Given the description of an element on the screen output the (x, y) to click on. 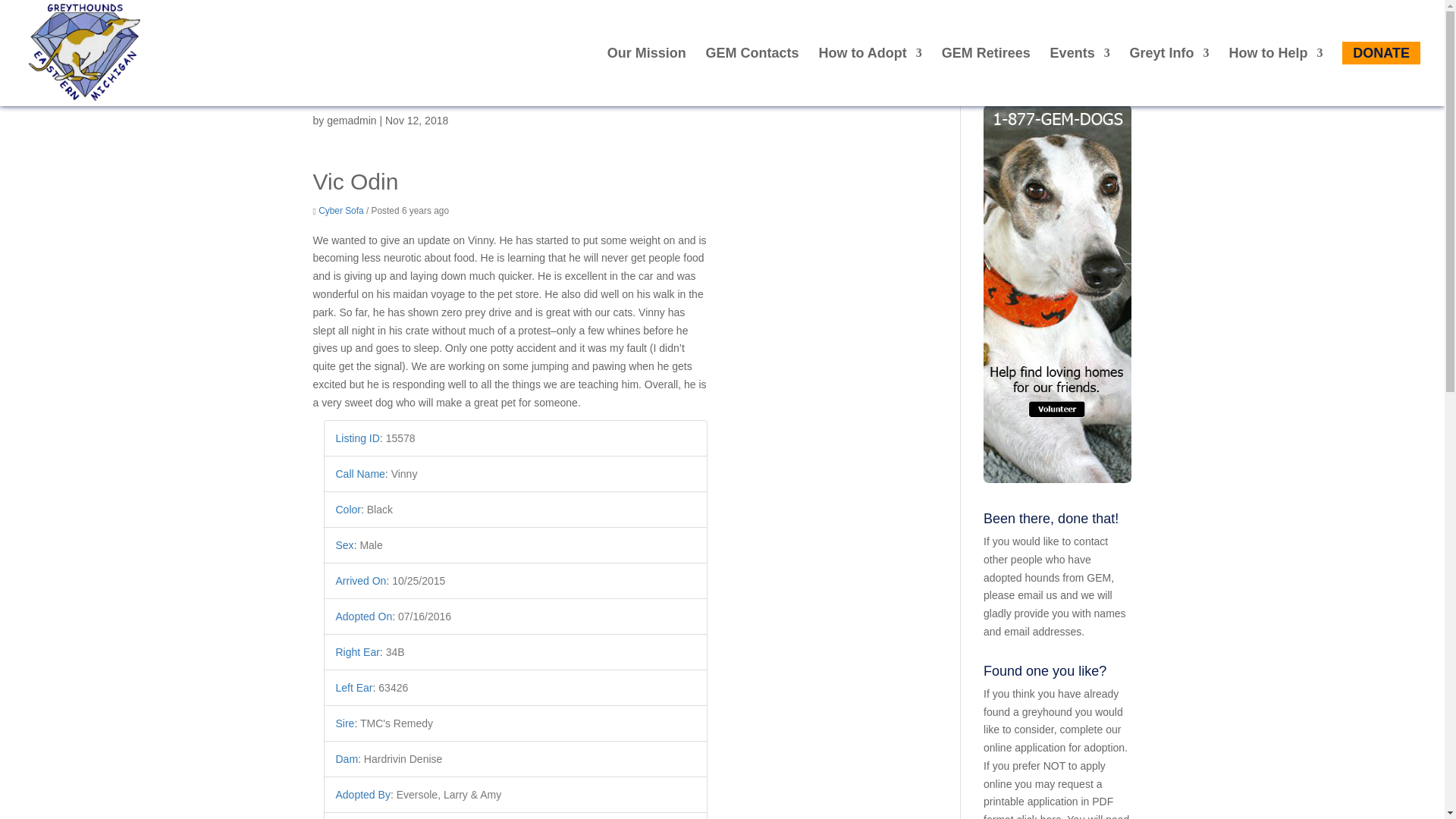
GEM Contacts (752, 76)
GEM Retirees (986, 76)
gemadmin (350, 120)
Posts by gemadmin (350, 120)
Greyt Info (1169, 76)
How to Help (1275, 76)
Our Mission (646, 76)
Events (1079, 76)
Cyber Sofa (340, 210)
click here (1038, 816)
